Given the description of an element on the screen output the (x, y) to click on. 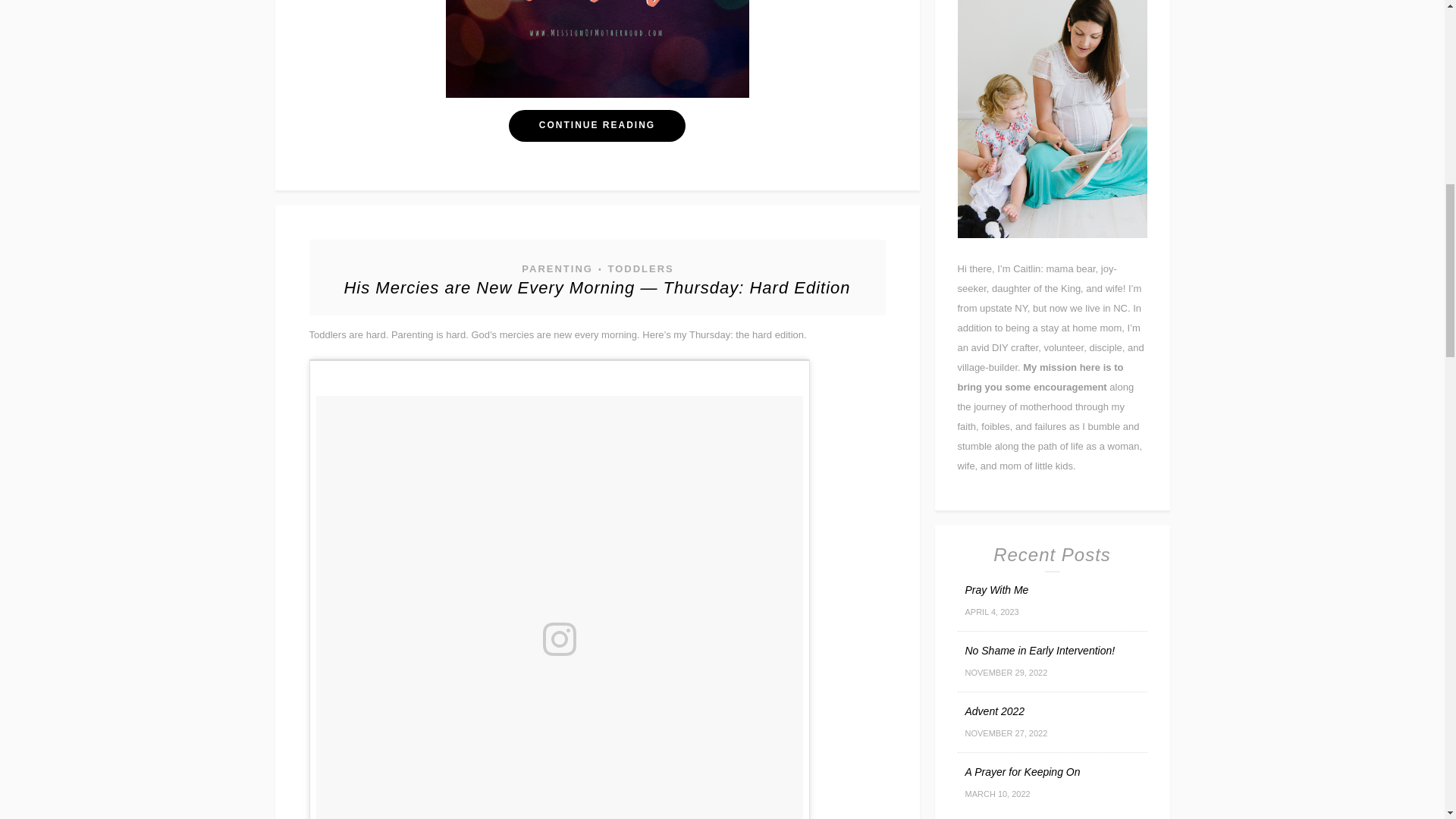
TODDLERS (638, 268)
Permanent Link to Pray With Me (995, 589)
CONTINUE READING (596, 125)
Permanent (596, 287)
Permanent Link to No Shame in Early Intervention! (1039, 650)
PARENTING (556, 268)
